Given the description of an element on the screen output the (x, y) to click on. 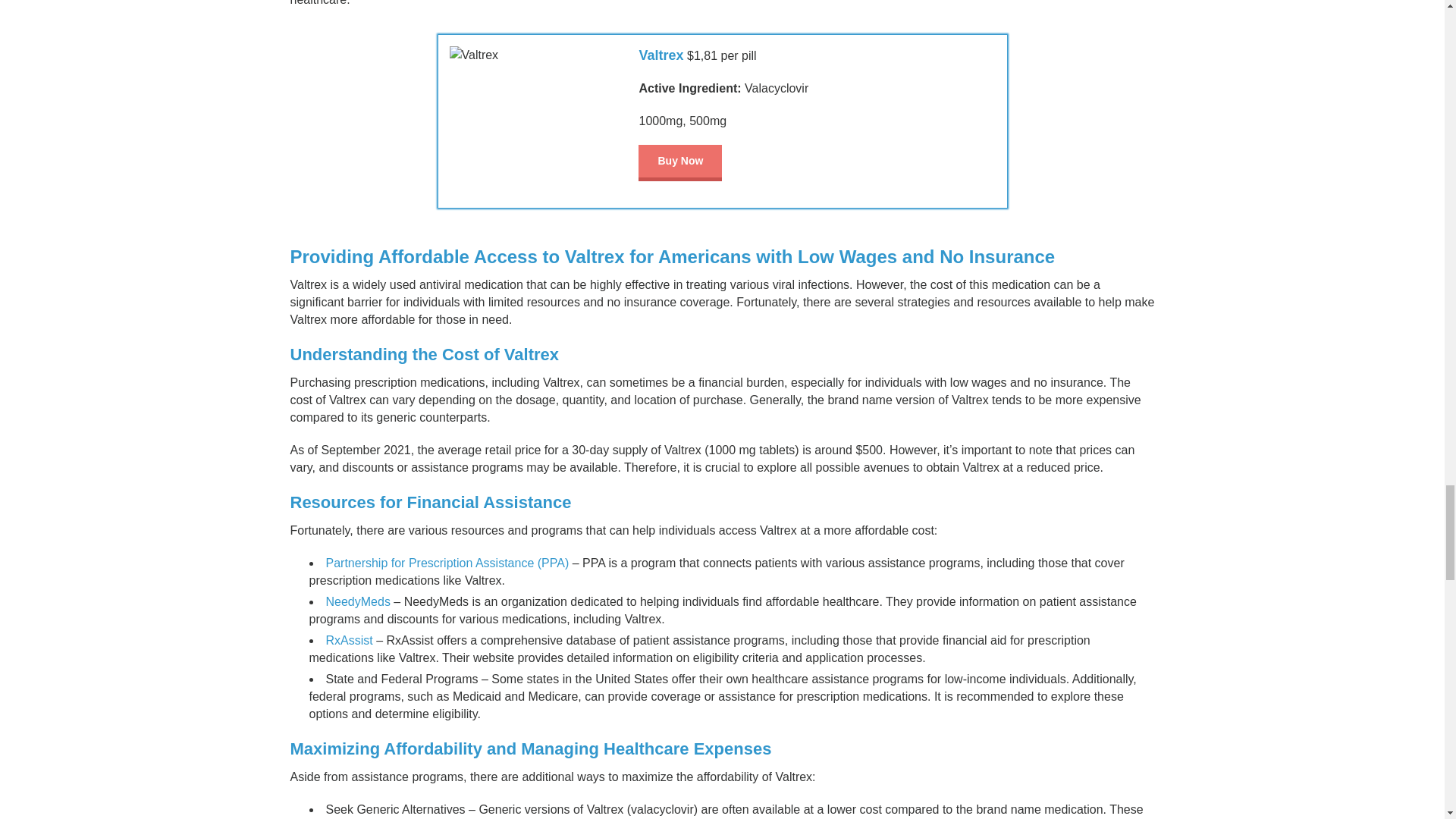
NeedyMeds (358, 601)
RxAssist (349, 640)
Buy Now (680, 162)
